Given the description of an element on the screen output the (x, y) to click on. 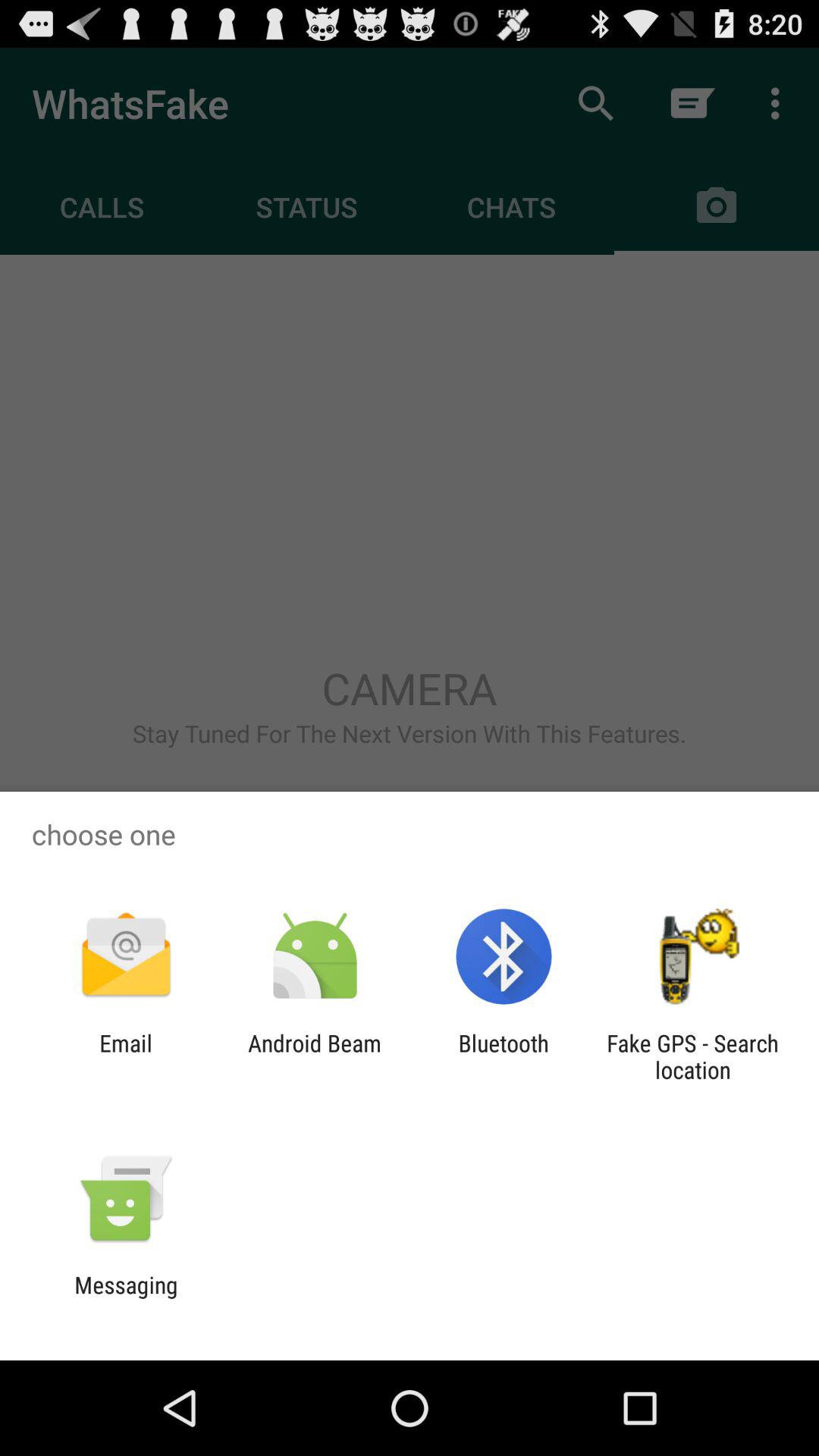
jump to messaging icon (126, 1298)
